Given the description of an element on the screen output the (x, y) to click on. 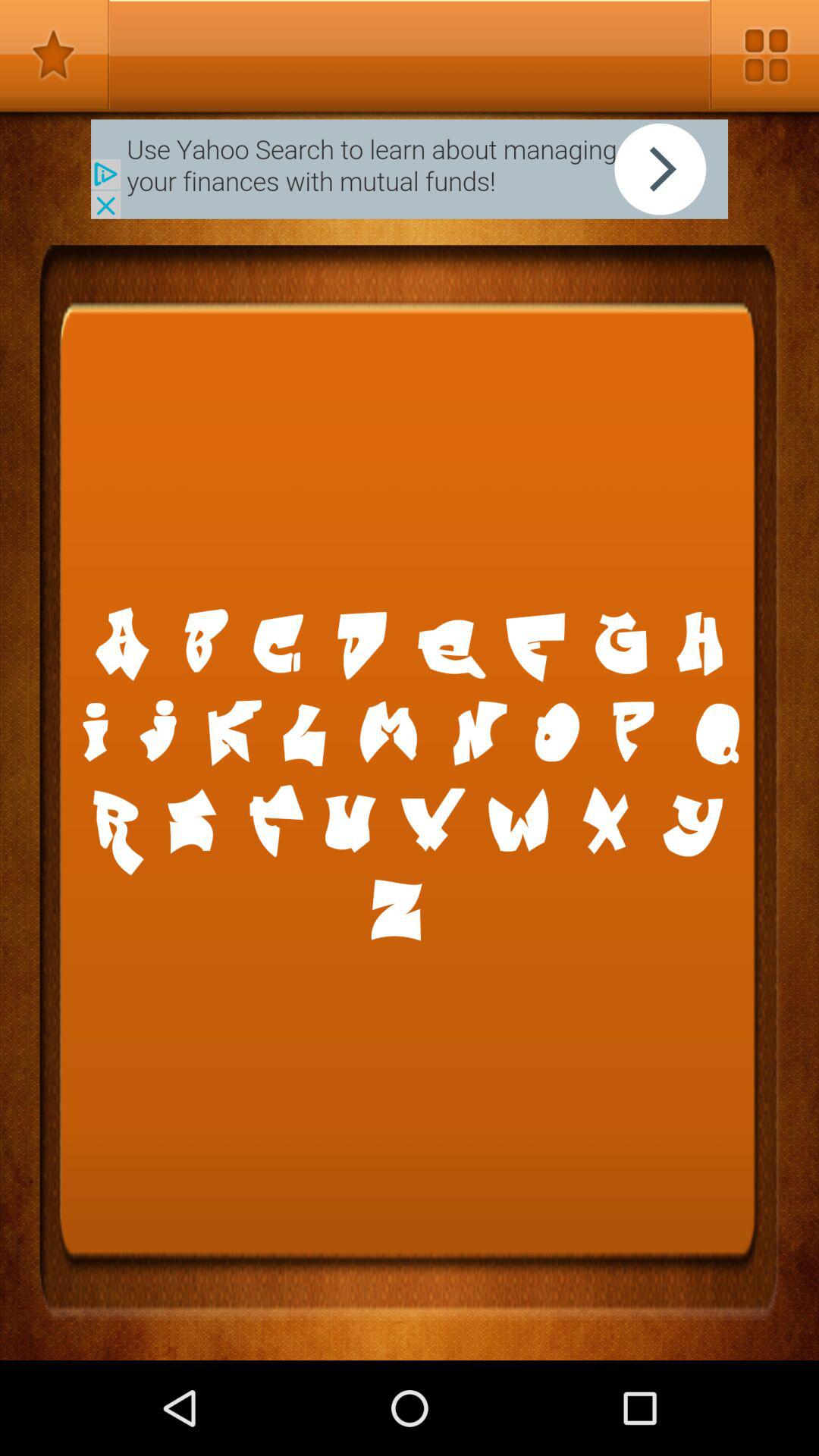
open options menu (764, 54)
